Given the description of an element on the screen output the (x, y) to click on. 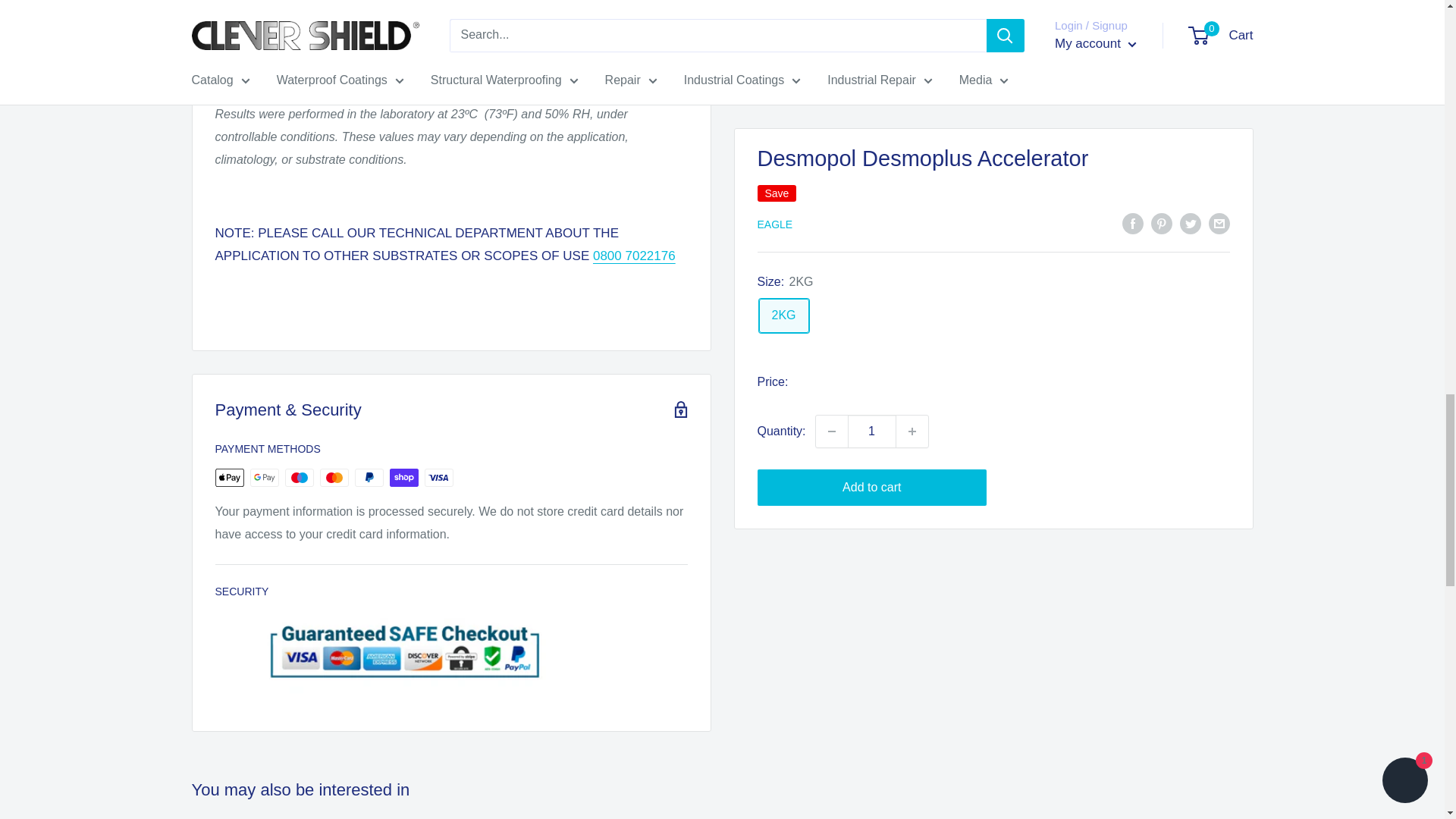
Call Technical Support (633, 255)
